Given the description of an element on the screen output the (x, y) to click on. 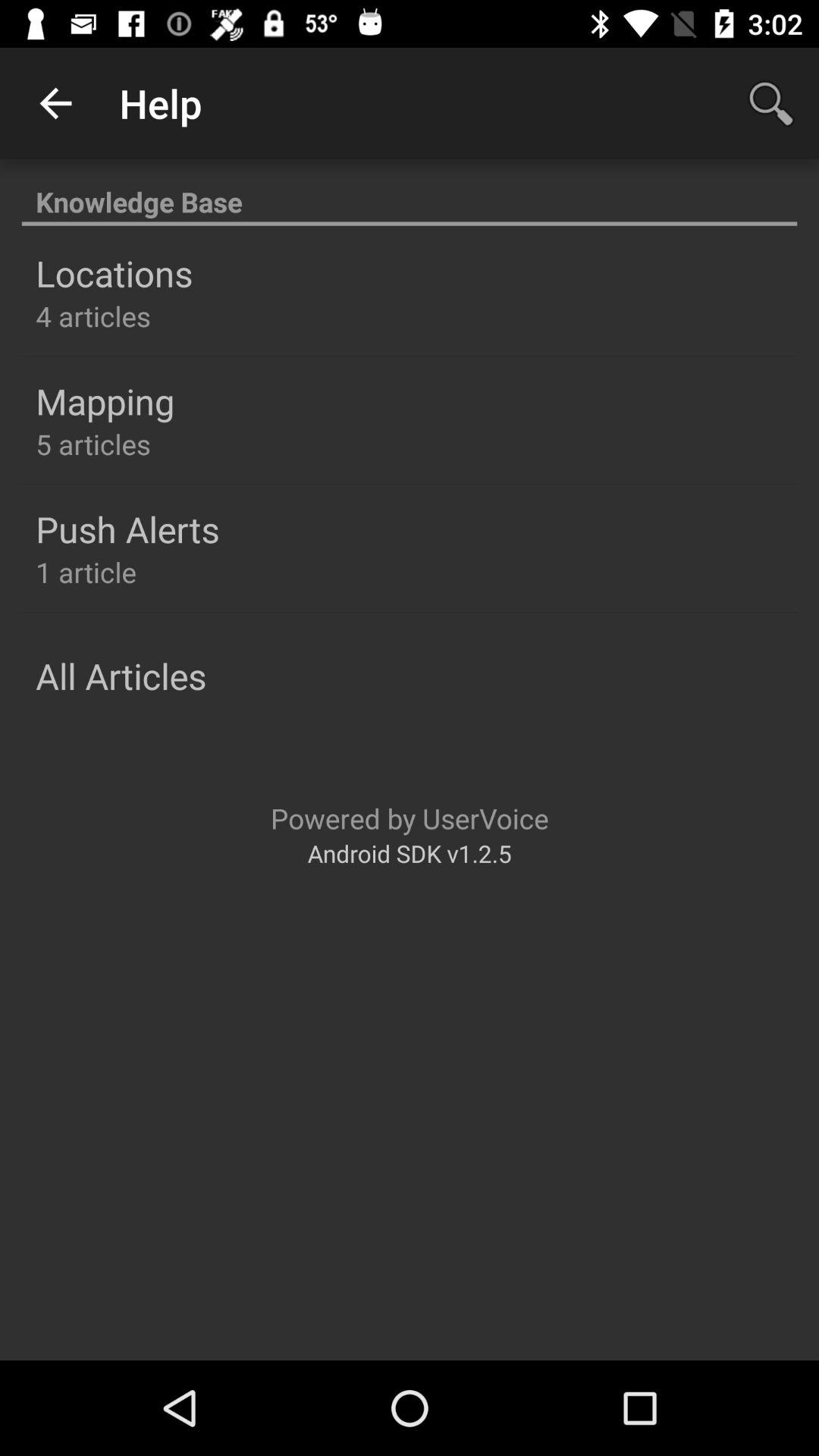
open the icon above android sdk v1 icon (409, 818)
